Given the description of an element on the screen output the (x, y) to click on. 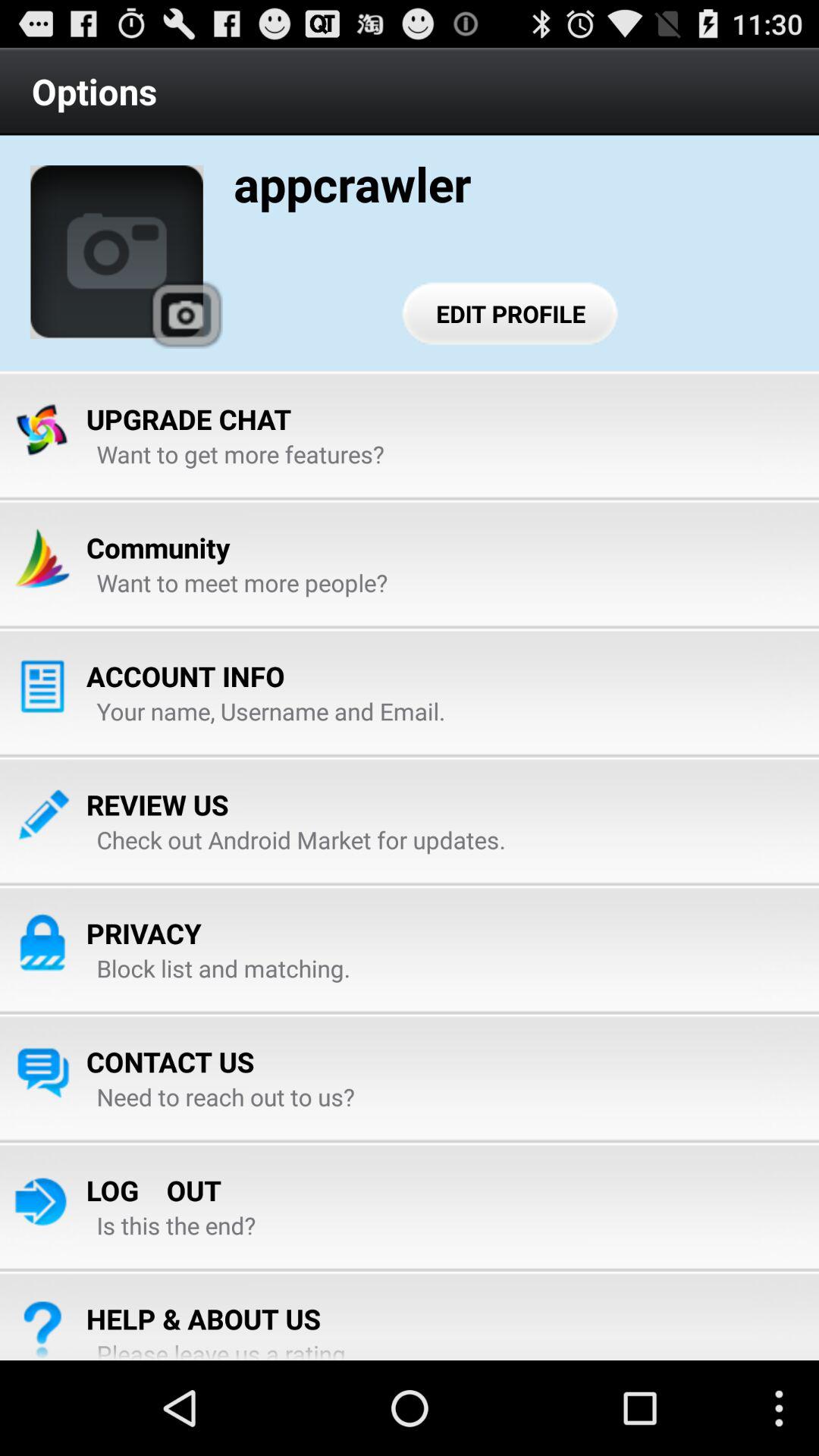
scroll until review us (157, 804)
